Given the description of an element on the screen output the (x, y) to click on. 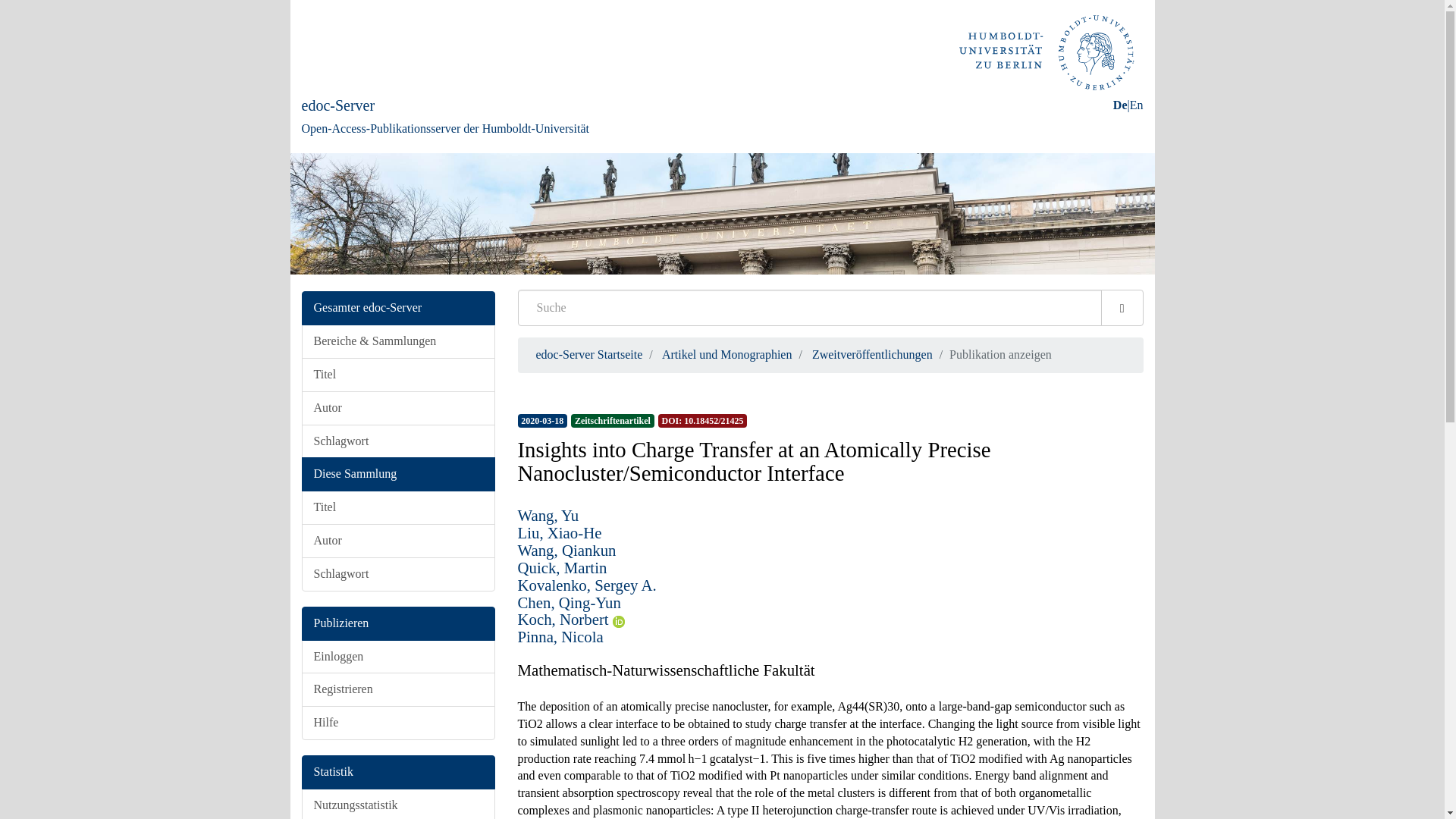
Titel (398, 507)
Gesamter edoc-Server (398, 308)
Publizieren (398, 623)
Registrieren (398, 689)
De (1119, 104)
Diese Sammlung (398, 474)
Titel (398, 374)
Nutzungsstatistik (398, 803)
Schlagwort (398, 574)
Autor (398, 408)
